Given the description of an element on the screen output the (x, y) to click on. 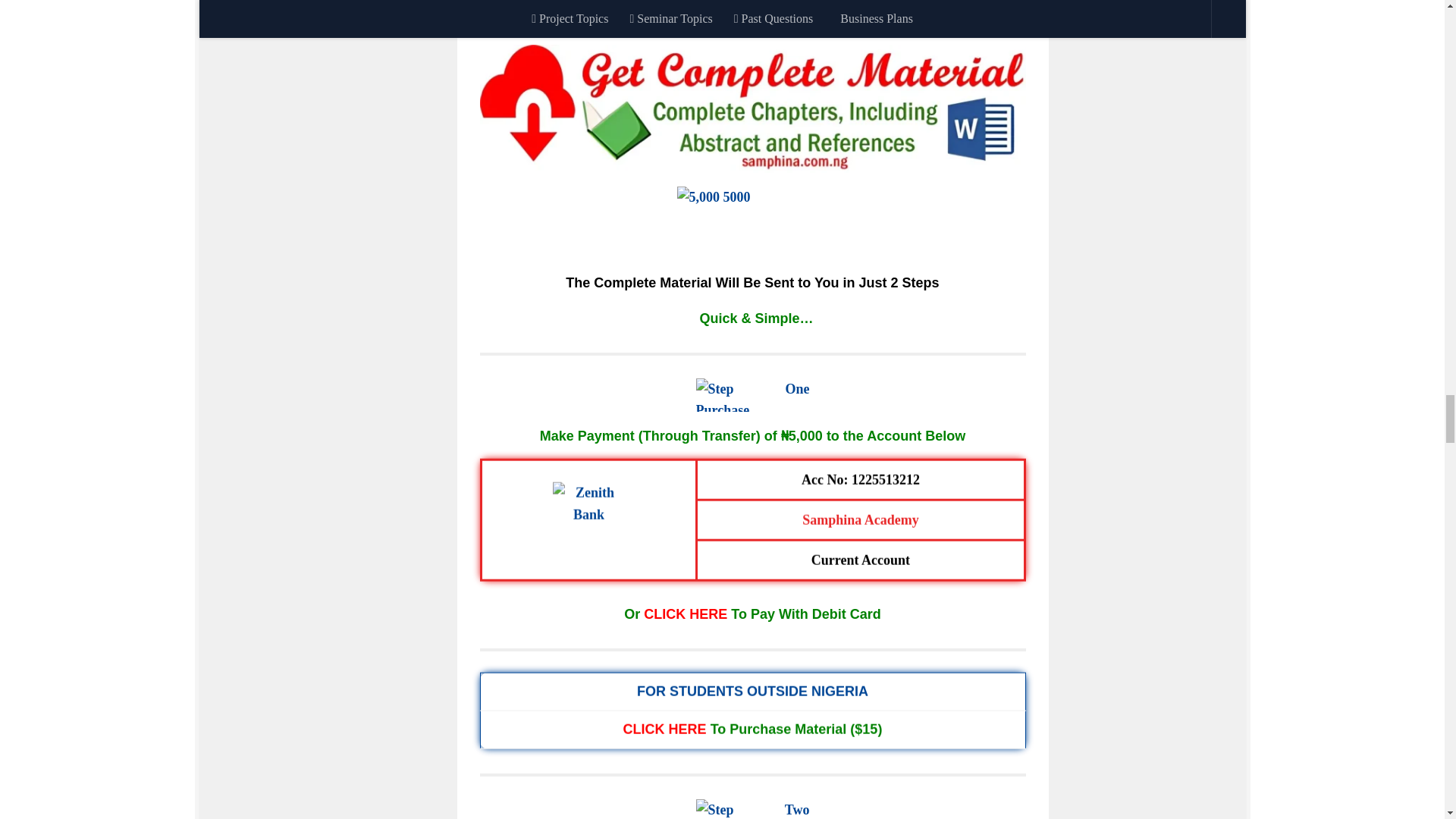
CLICK HERE (684, 613)
CLICK HERE (664, 729)
